Given the description of an element on the screen output the (x, y) to click on. 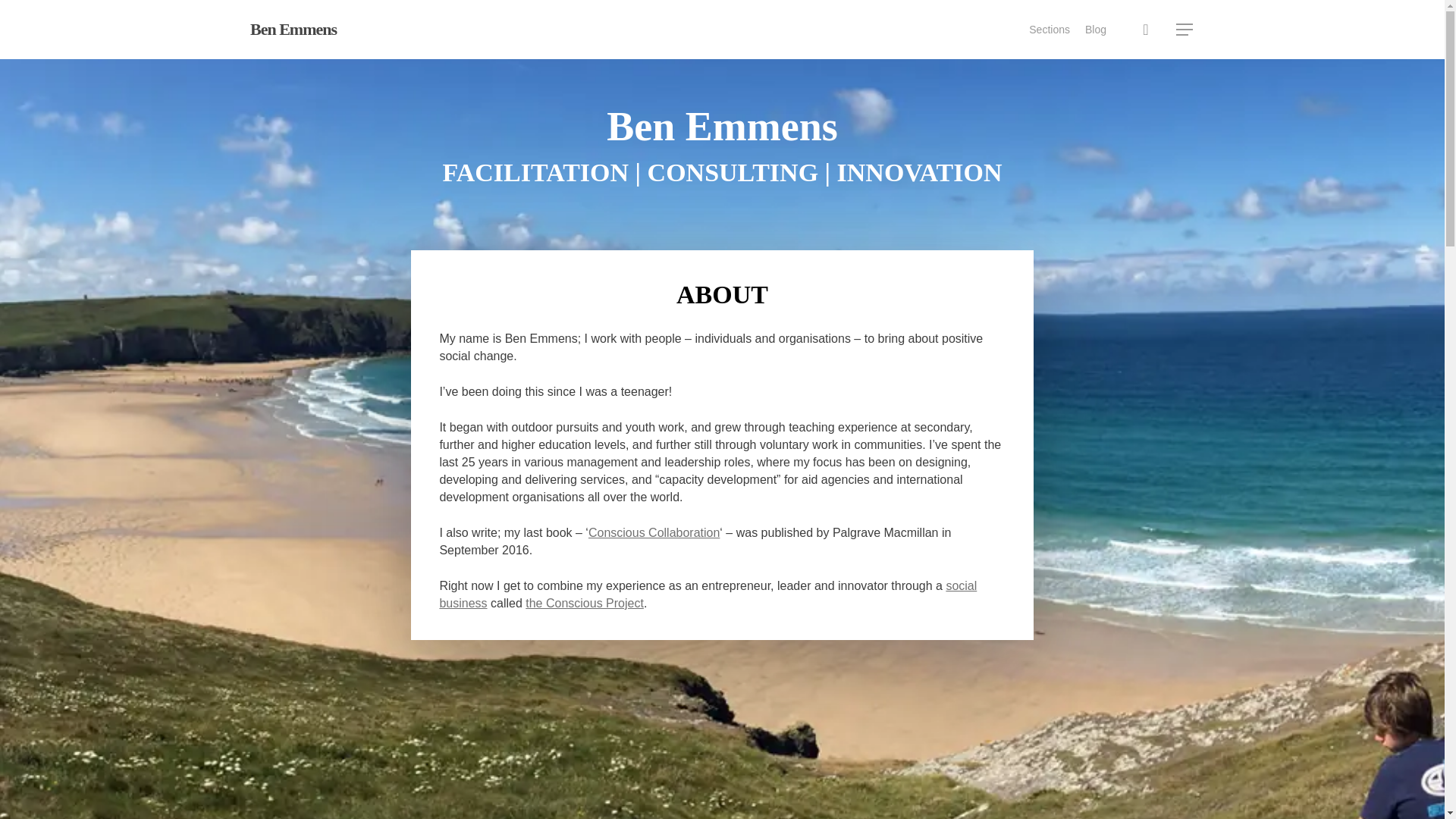
the Conscious Project (584, 603)
The Conscious Project (707, 594)
Blog (1095, 29)
Conscious Collaboration (653, 532)
Ben Emmens (293, 29)
Menu (1184, 28)
search (1145, 28)
Sections (1049, 29)
social business (707, 594)
